Given the description of an element on the screen output the (x, y) to click on. 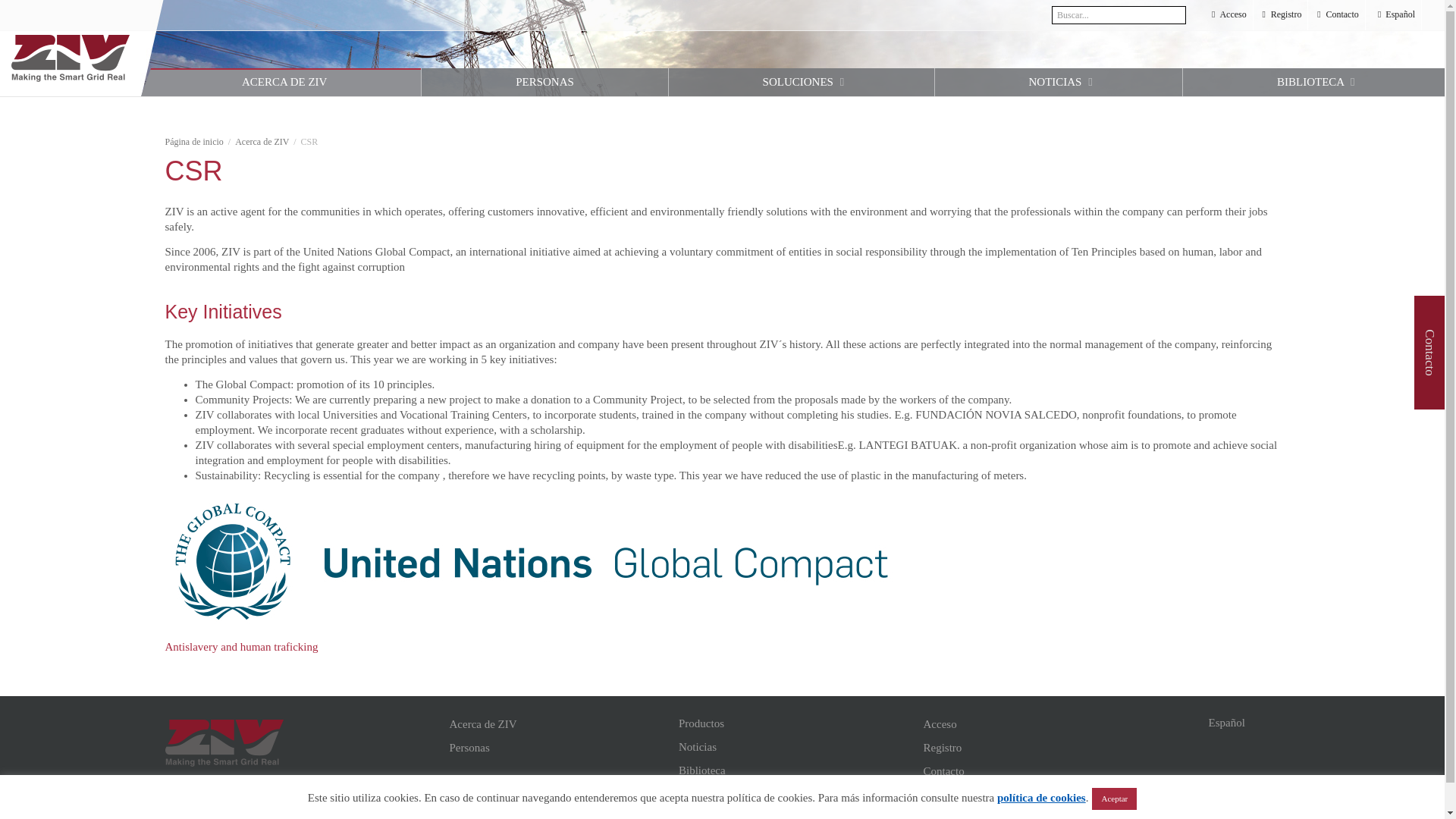
Acceso (1227, 15)
Acceso (1227, 15)
ZIV (70, 58)
BIBLIOTECA (1313, 81)
Registro (1280, 15)
NOTICIAS (1058, 81)
Noticias (789, 746)
Registro (1280, 15)
Acerca de ZIV (559, 723)
Acerca de ZIV (280, 81)
Contacto (1336, 15)
Contacto (1336, 15)
Personas (543, 81)
Acerca de ZIV (261, 141)
Soluciones (801, 81)
